Given the description of an element on the screen output the (x, y) to click on. 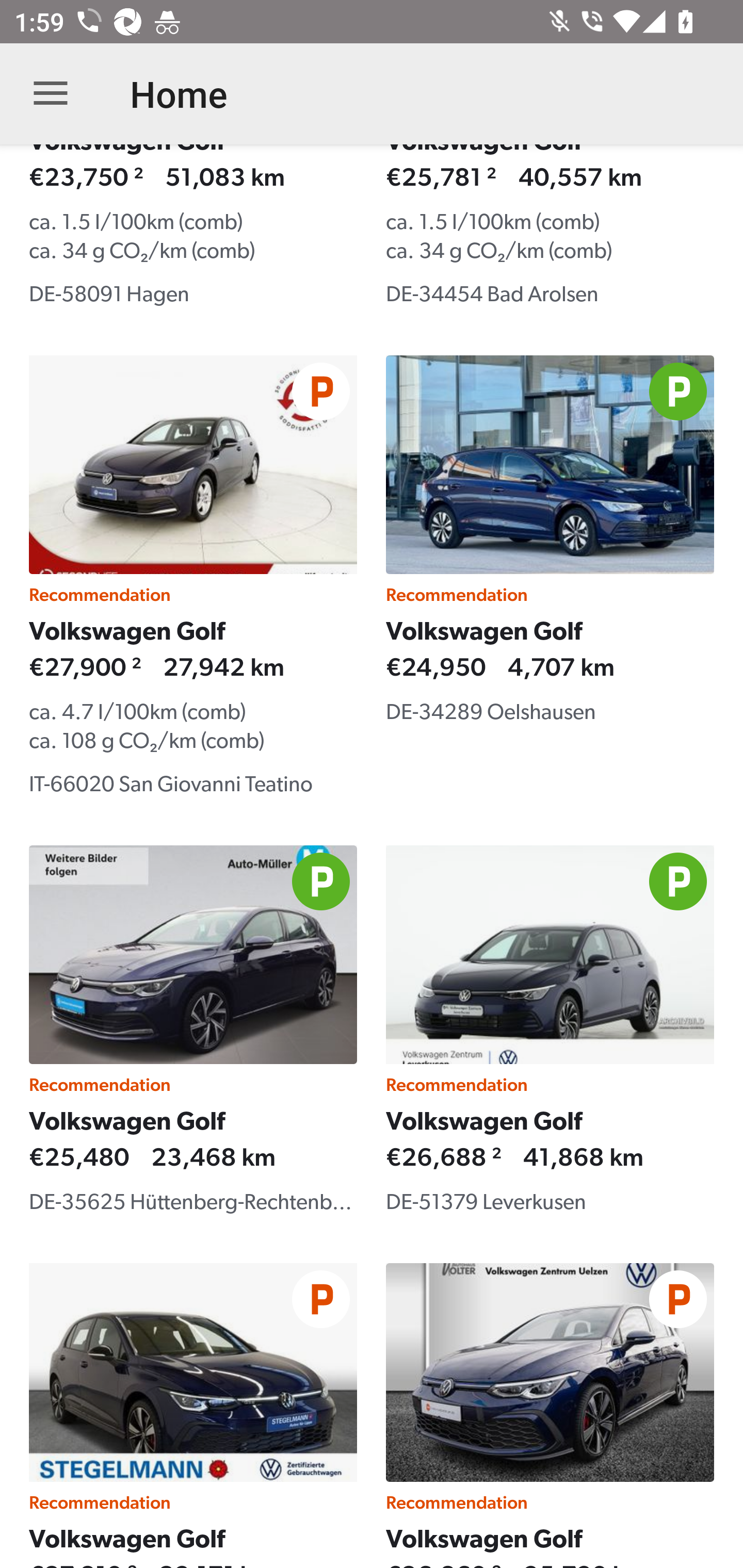
Open navigation bar (50, 93)
Recommendation Volkswagen Golf €27,810 ² 23,171 km (192, 1415)
Recommendation Volkswagen Golf €26,860 ² 35,730 km (549, 1415)
